Given the description of an element on the screen output the (x, y) to click on. 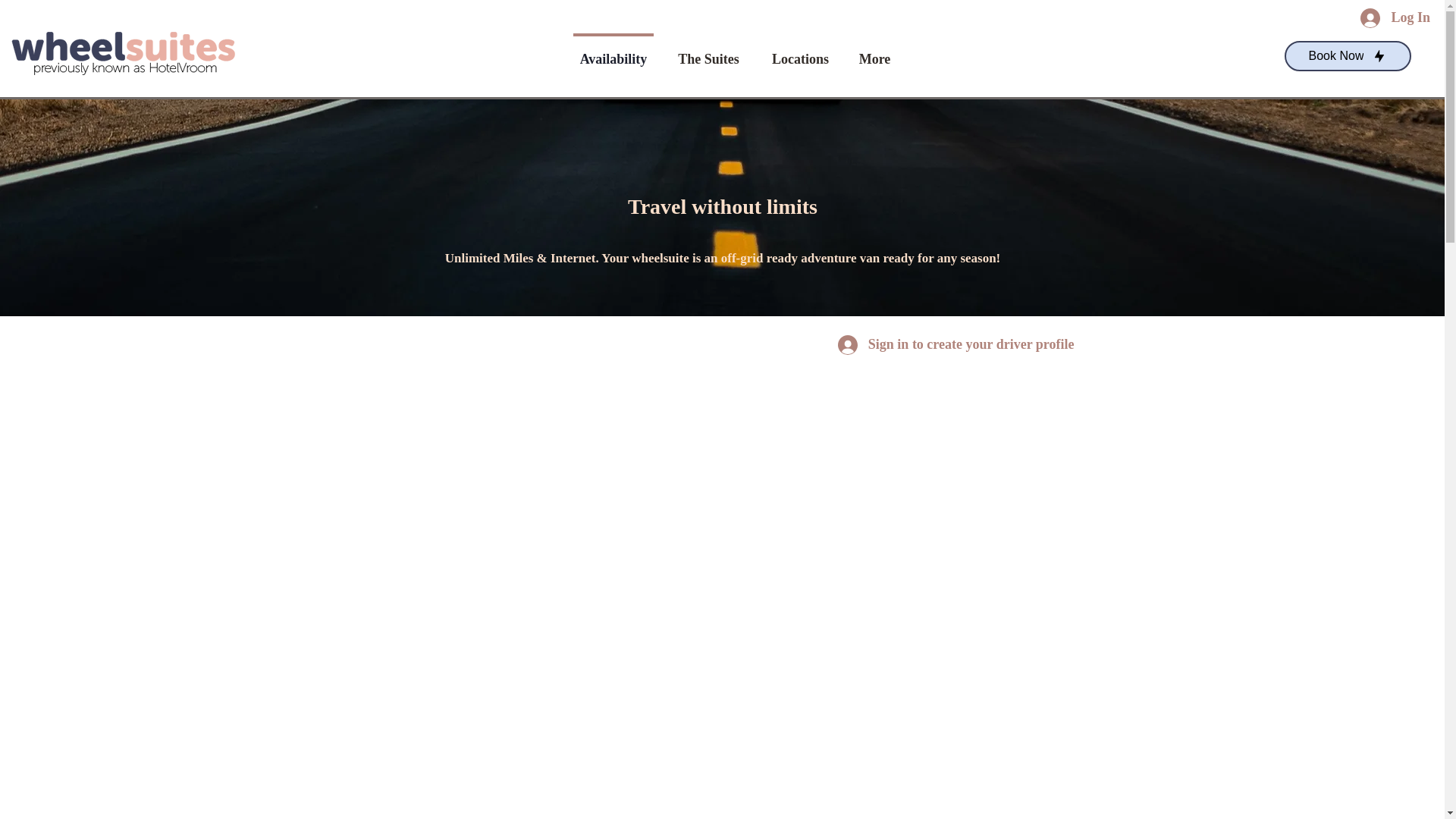
The Suites (708, 52)
Log In (1395, 18)
Availability (613, 52)
Sign in to create your driver profile (955, 344)
Locations (799, 52)
Hotel Vroom's Luxury CampervanRentals (122, 50)
Book Now (1347, 55)
